Given the description of an element on the screen output the (x, y) to click on. 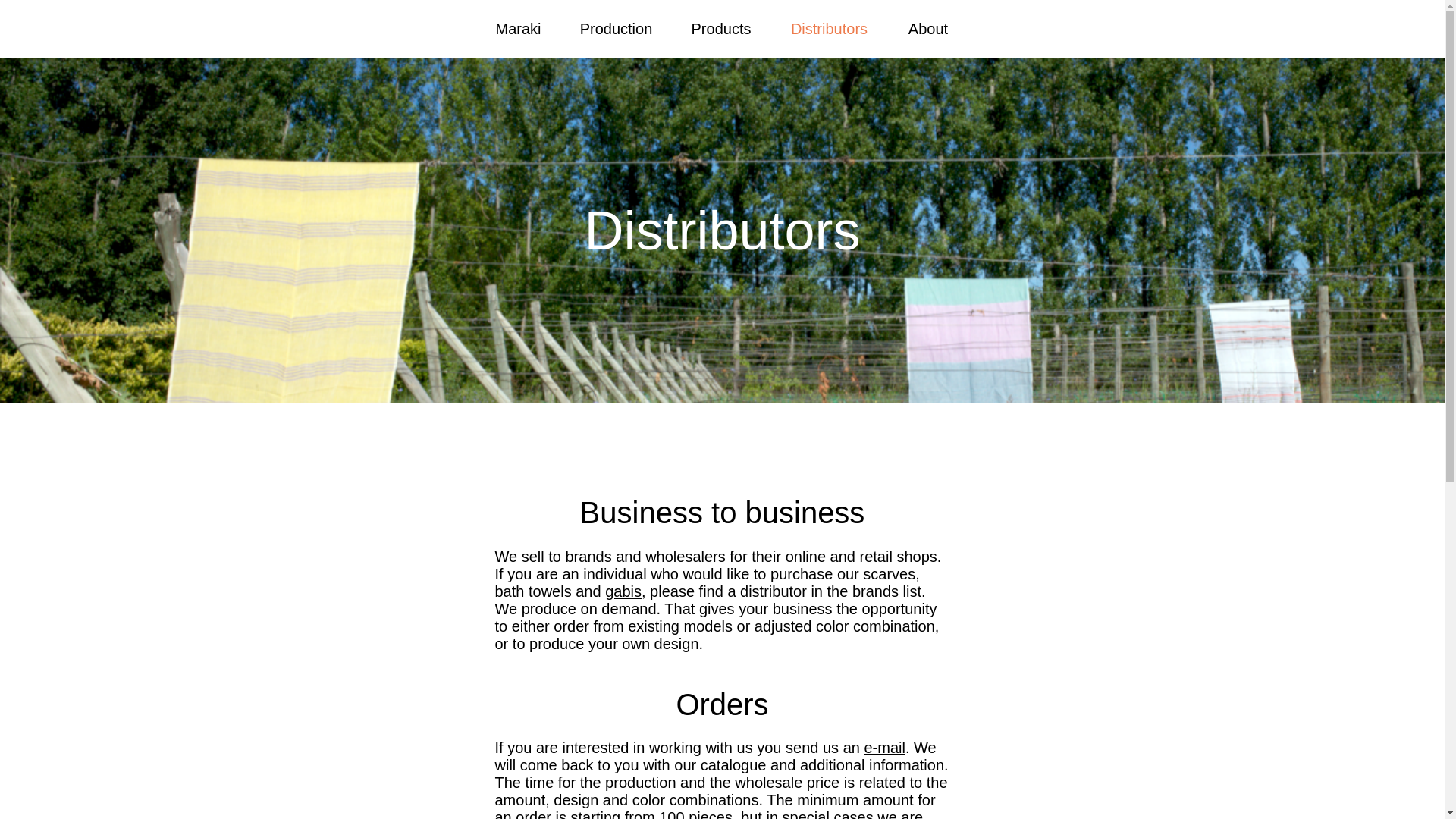
About (928, 29)
Maraki (517, 29)
Products (720, 29)
Production (615, 29)
e-mail (883, 747)
Distributors (829, 29)
gabis (623, 591)
